Given the description of an element on the screen output the (x, y) to click on. 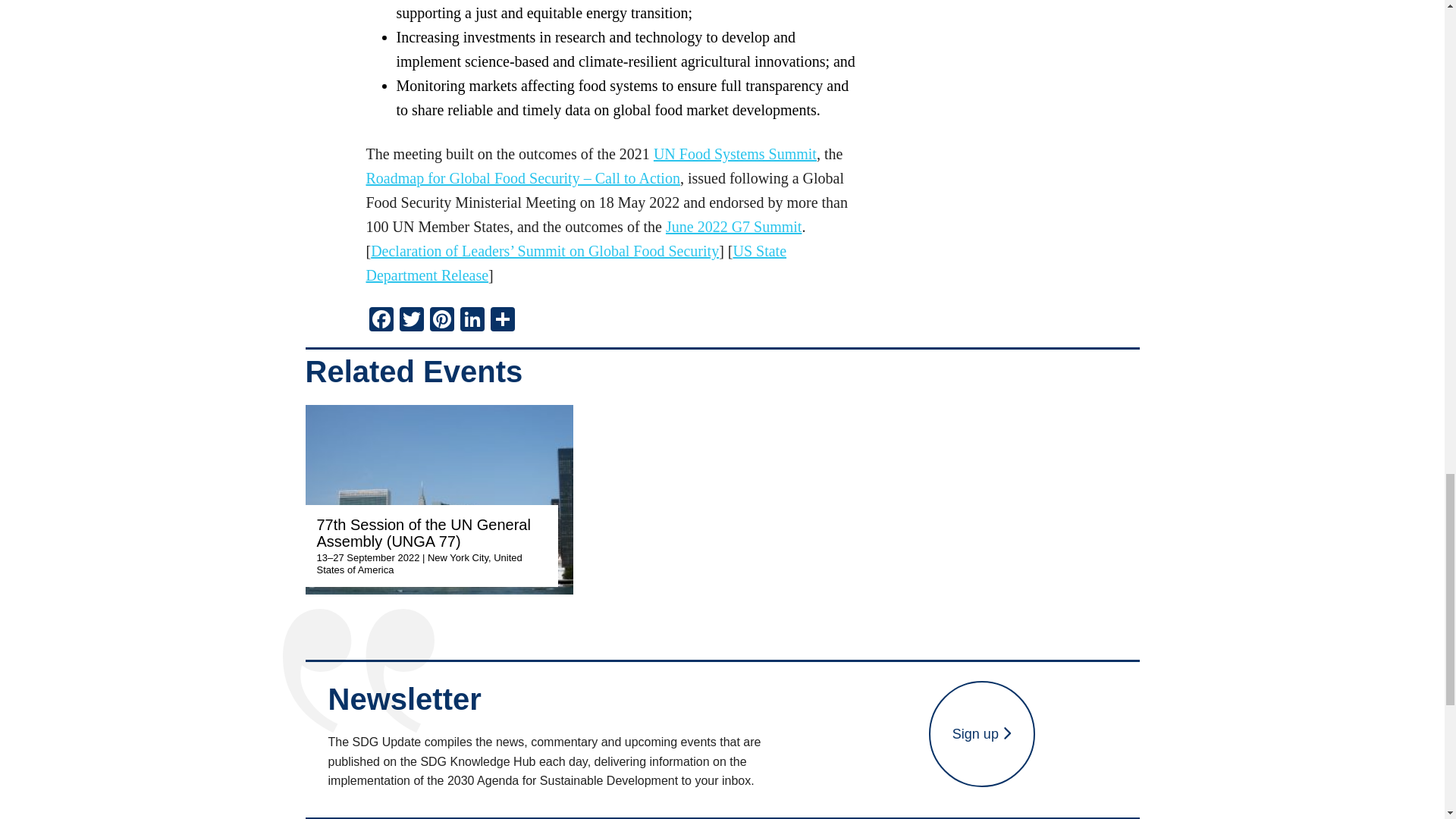
LinkedIn (471, 320)
Twitter (411, 320)
Facebook (380, 320)
June 2022 G7 Summit (733, 226)
LinkedIn (471, 320)
Twitter (411, 320)
Pinterest (441, 320)
Facebook (380, 320)
UN Food Systems Summit (734, 153)
Pinterest (441, 320)
